Given the description of an element on the screen output the (x, y) to click on. 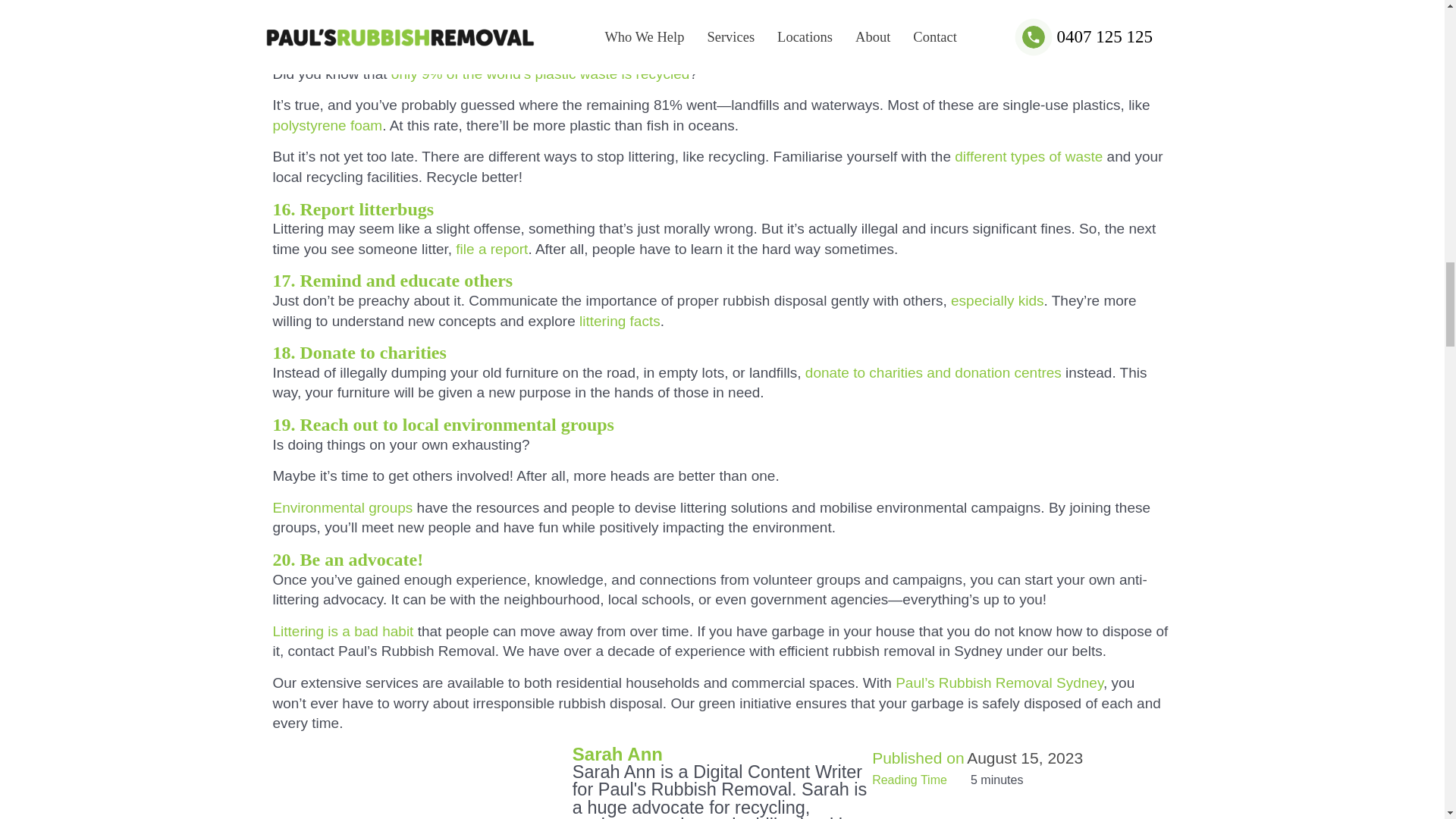
different types of waste (1028, 156)
file a report (491, 248)
Littering is a bad habit (343, 631)
polystyrene foam (327, 125)
littering facts (620, 320)
especially kids (996, 300)
Environmental groups (343, 507)
donate to charities and donation centres (933, 372)
